Given the description of an element on the screen output the (x, y) to click on. 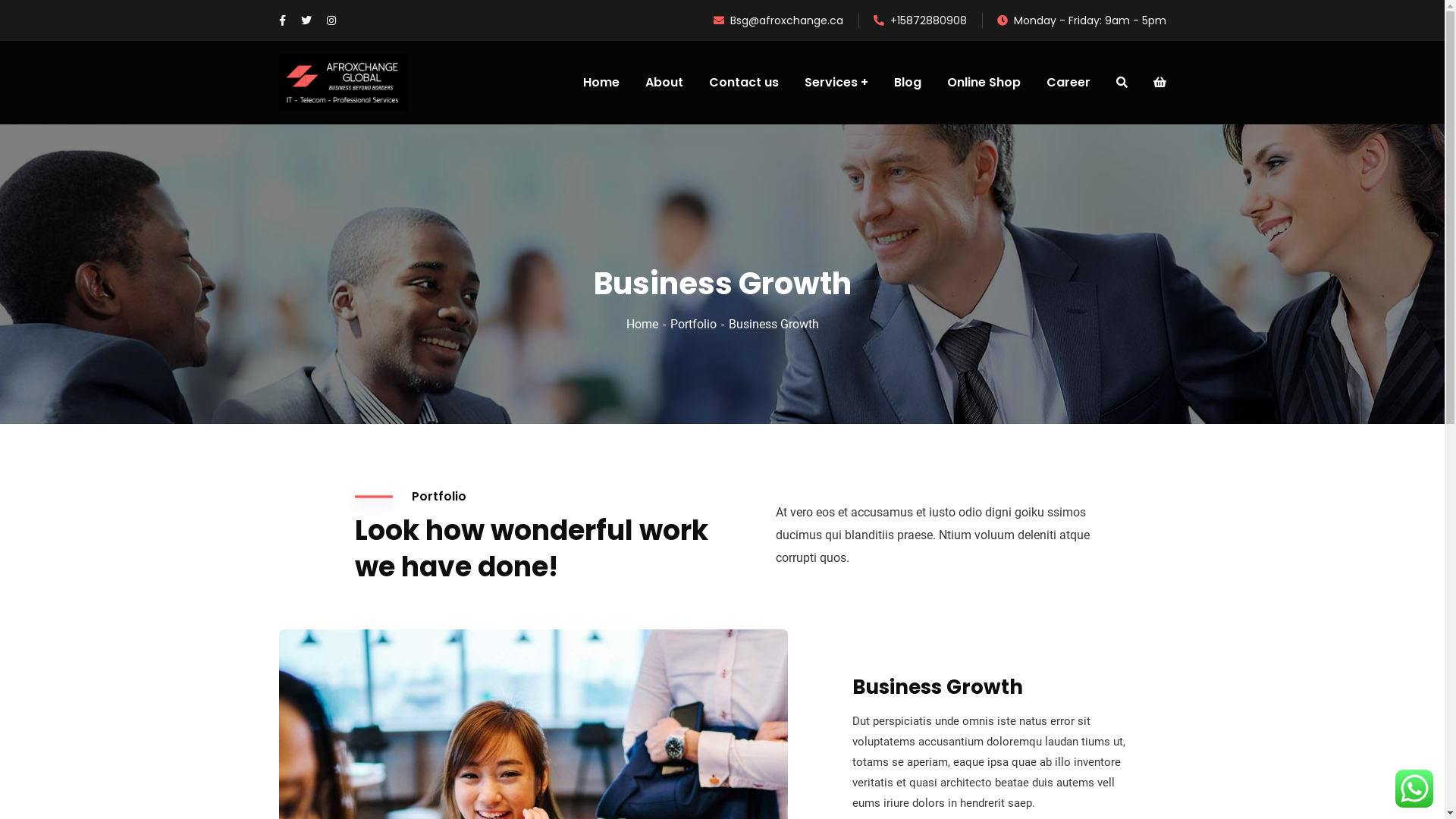
Career Element type: text (1068, 82)
Bsg@afroxchange.ca Element type: text (777, 20)
Contact us Element type: text (743, 82)
Subscribe Element type: text (1138, 641)
Afroxchange Element type: text (803, 795)
Portfolio Element type: text (699, 323)
About Element type: text (659, 605)
Afroxchange Element type: hover (343, 82)
Home Element type: text (600, 82)
Career Element type: text (566, 701)
Services Element type: text (835, 82)
Online Shop Element type: text (675, 669)
Services Element type: text (665, 637)
About Element type: text (663, 82)
Blog Element type: text (559, 669)
Contact us Element type: text (578, 637)
Home Element type: text (564, 605)
Blog Element type: text (906, 82)
Online Shop Element type: text (982, 82)
+15872880908 Element type: text (919, 20)
Home Element type: text (648, 323)
